Given the description of an element on the screen output the (x, y) to click on. 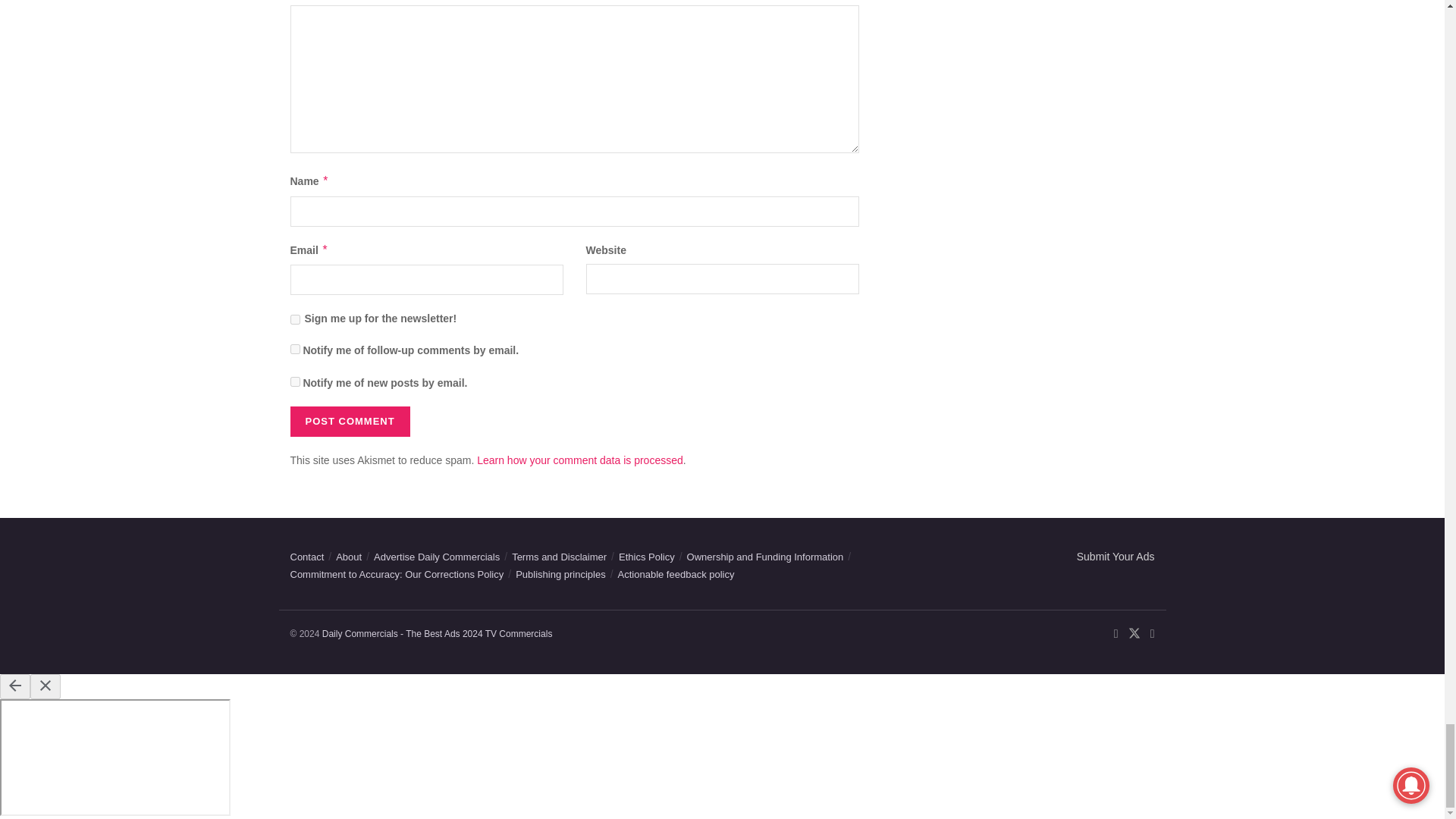
subscribe (294, 381)
Submit Your Ads (1115, 556)
subscribe (294, 348)
Post Comment (349, 421)
1 (294, 319)
